Given the description of an element on the screen output the (x, y) to click on. 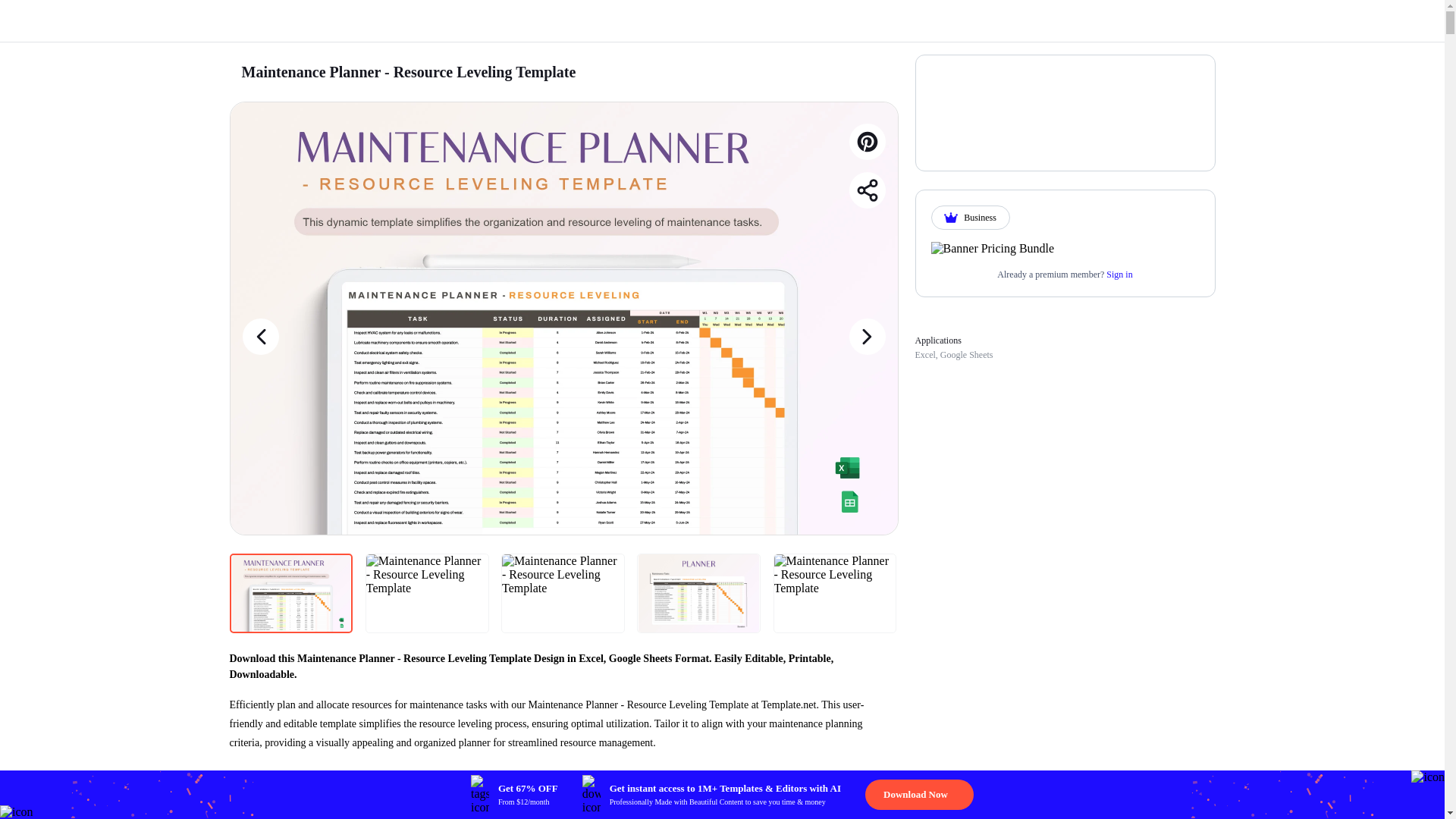
, Google Sheets (964, 354)
Banner Pricing Bundle (992, 248)
Excel (924, 354)
